Given the description of an element on the screen output the (x, y) to click on. 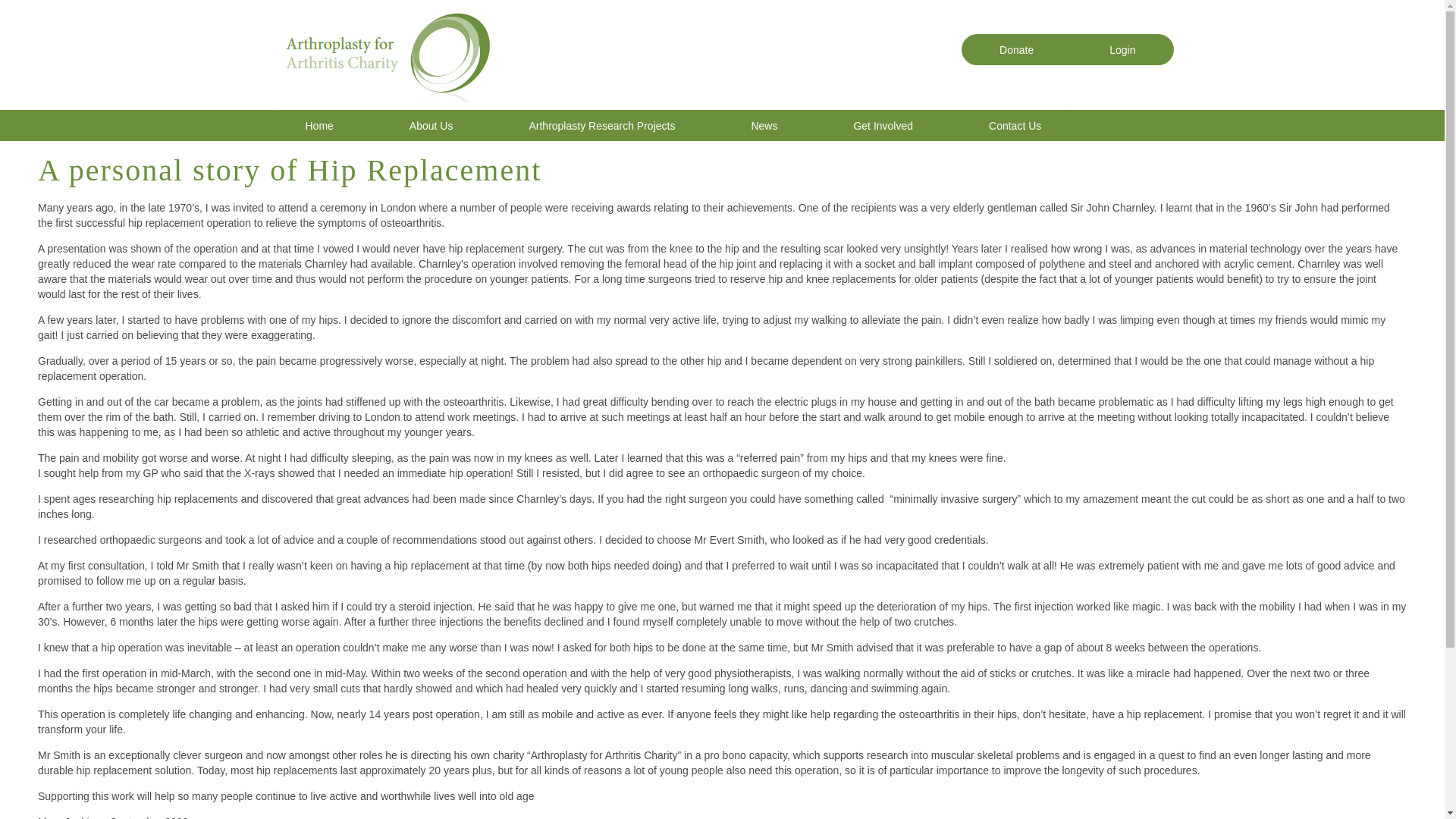
About Us (431, 124)
News (764, 124)
Get Involved (882, 124)
Donate (1015, 49)
Arthroplasty Research Projects (601, 124)
Home (318, 124)
Arthroplasty for Arthritis Charity (384, 53)
Login (1122, 49)
Contact Us (1014, 124)
Arthroplasty for Arthritis Charity (384, 98)
